Given the description of an element on the screen output the (x, y) to click on. 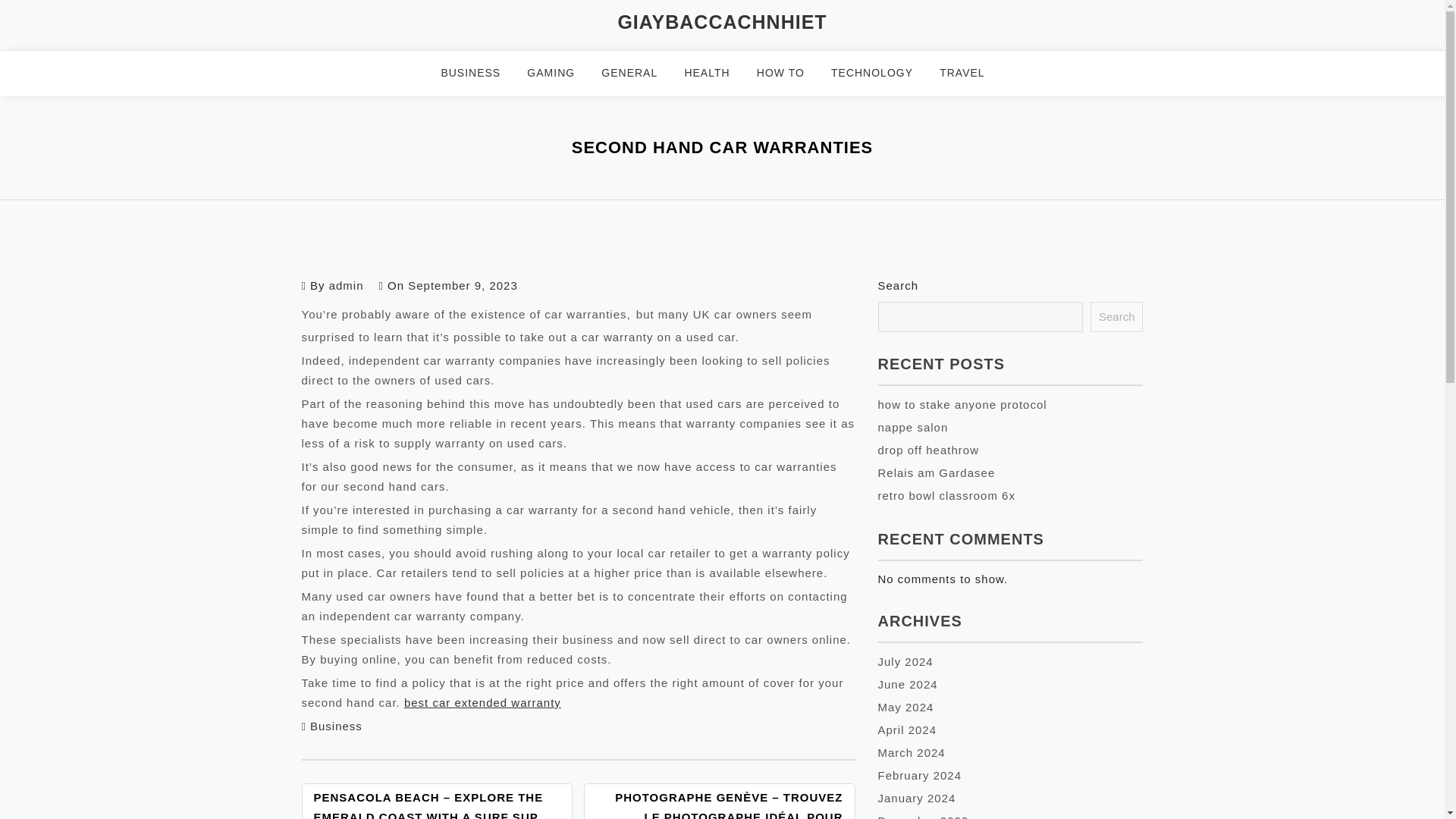
GAMING (560, 73)
drop off heathrow (927, 449)
April 2024 (907, 729)
HEALTH (716, 73)
nappe salon (913, 427)
January 2024 (916, 797)
BUSINESS (480, 73)
July 2024 (905, 661)
TRAVEL (971, 73)
HOW TO (790, 73)
how to stake anyone protocol (961, 404)
TECHNOLOGY (881, 73)
Search (1116, 317)
February 2024 (919, 775)
retro bowl classroom 6x (945, 495)
